Given the description of an element on the screen output the (x, y) to click on. 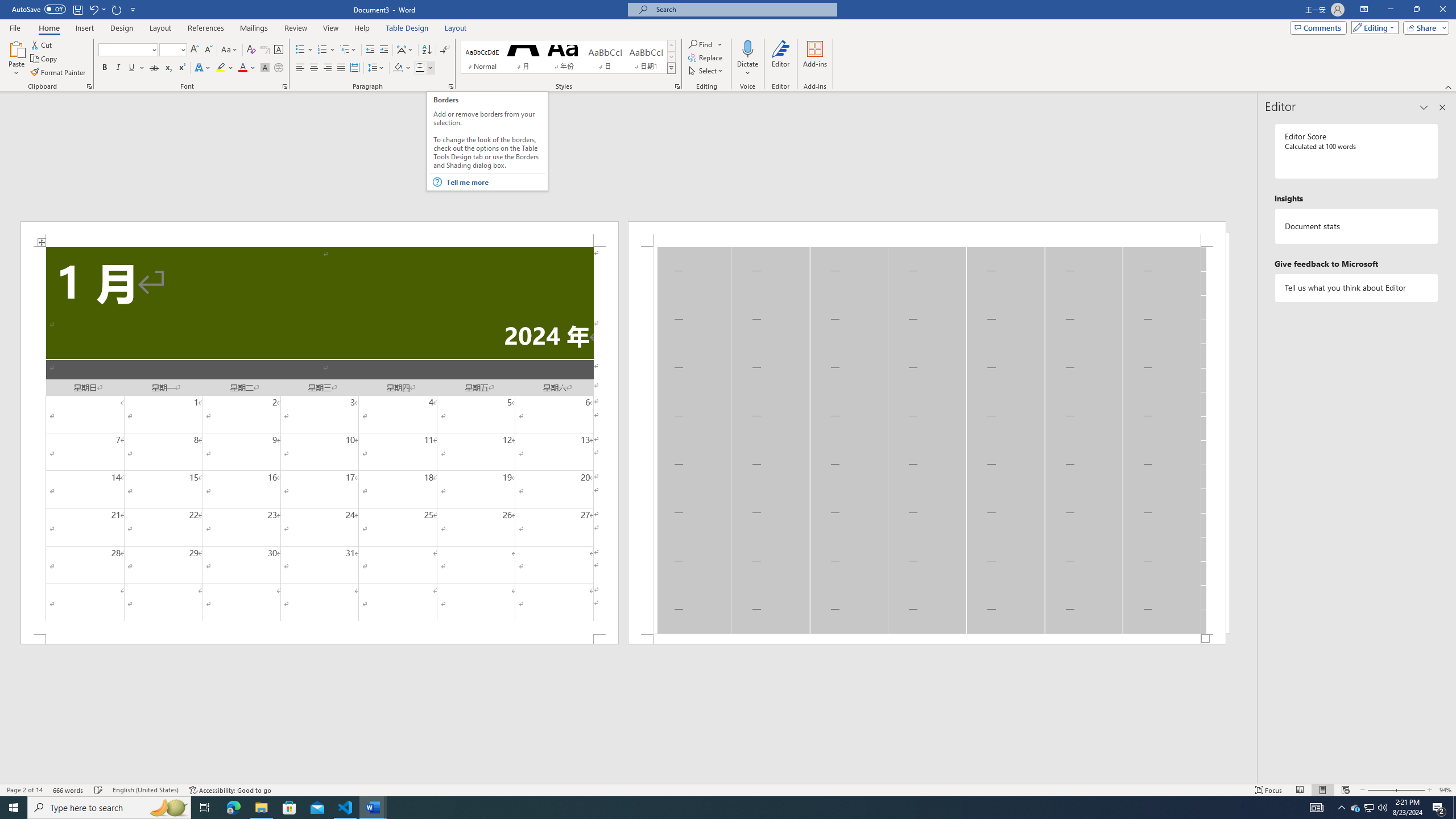
Class: NetUIScrollBar (628, 778)
Paragraph... (450, 85)
Show/Hide Editing Marks (444, 49)
Word Count 666 words (68, 790)
Change Case (229, 49)
Row Down (670, 56)
